Given the description of an element on the screen output the (x, y) to click on. 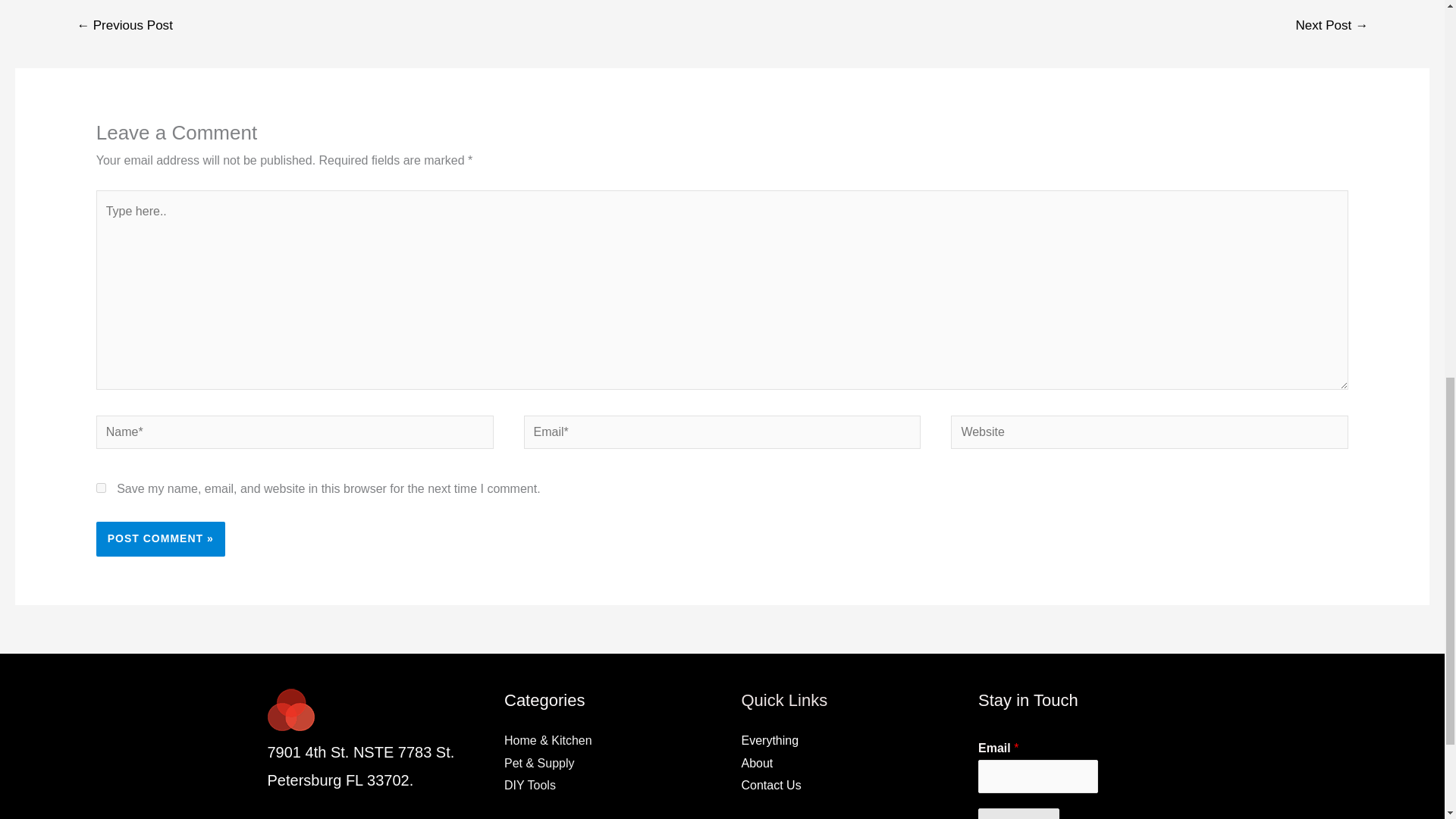
DIY Tools (529, 784)
yes (101, 488)
